Given the description of an element on the screen output the (x, y) to click on. 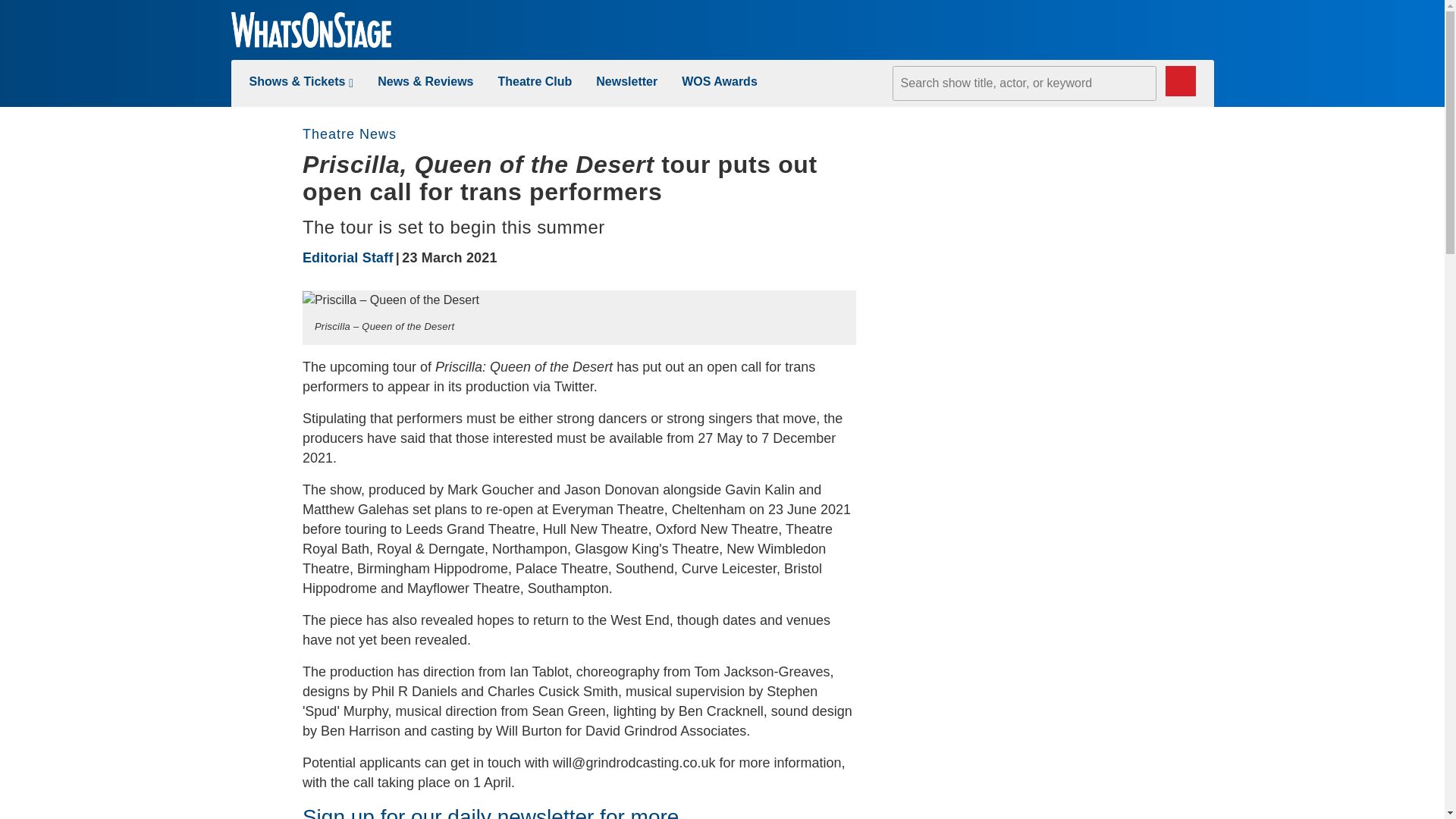
Newsletter (626, 81)
Theatre Club (534, 81)
new-and-reviews-link (425, 81)
WOS Awards (719, 81)
